Given the description of an element on the screen output the (x, y) to click on. 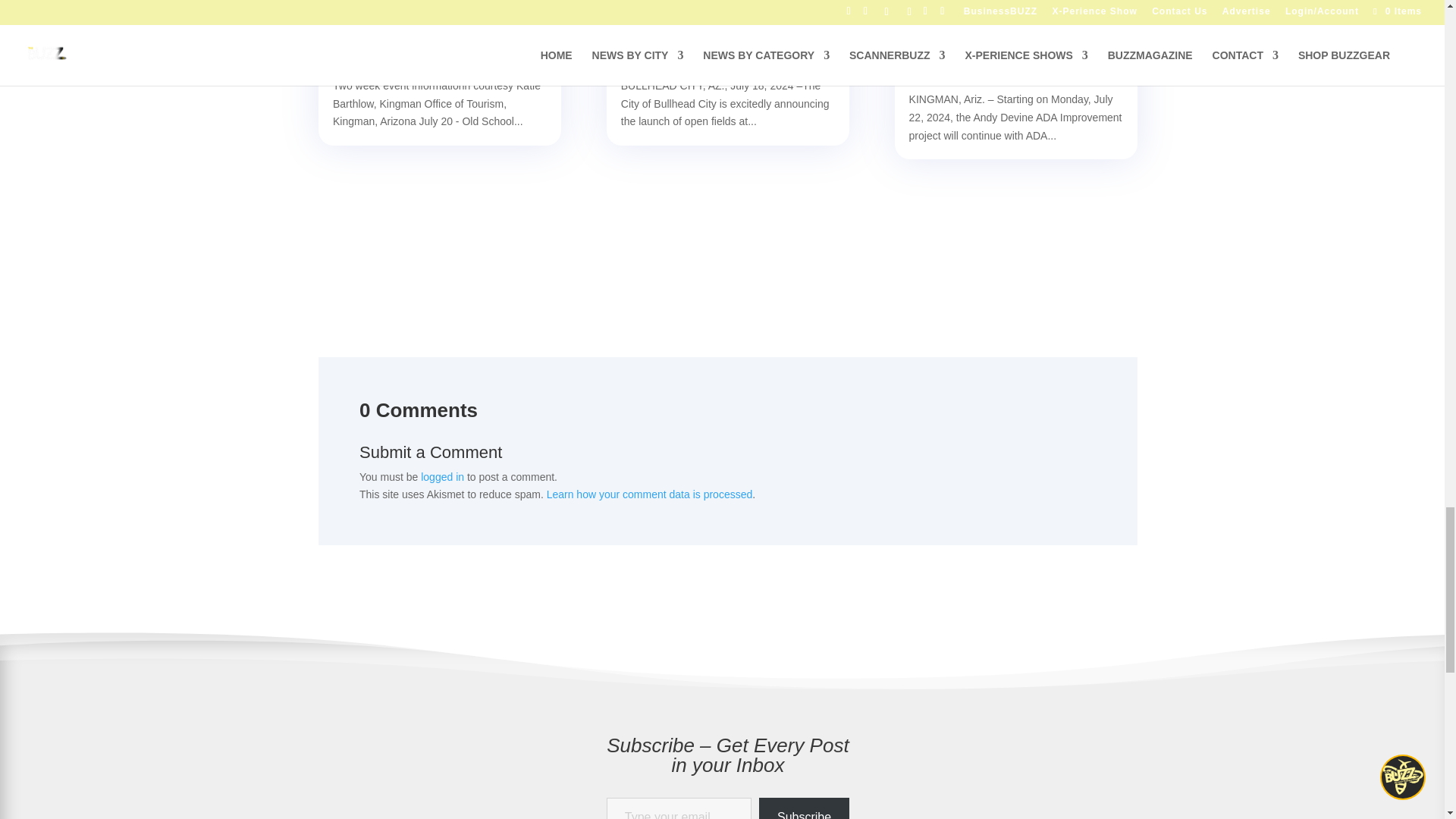
Please fill in this field. (679, 808)
